Given the description of an element on the screen output the (x, y) to click on. 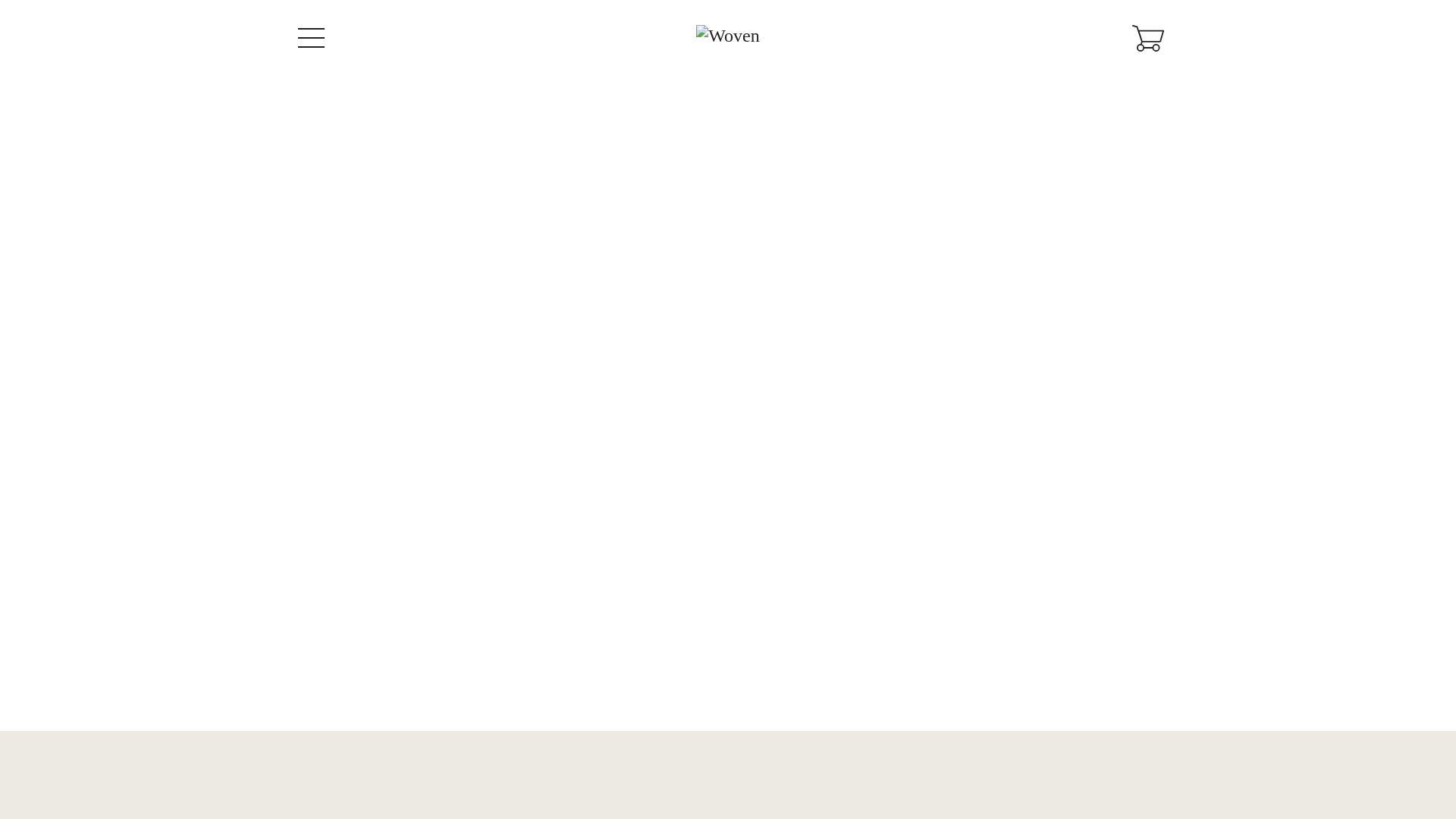
MENU (307, 37)
